Given the description of an element on the screen output the (x, y) to click on. 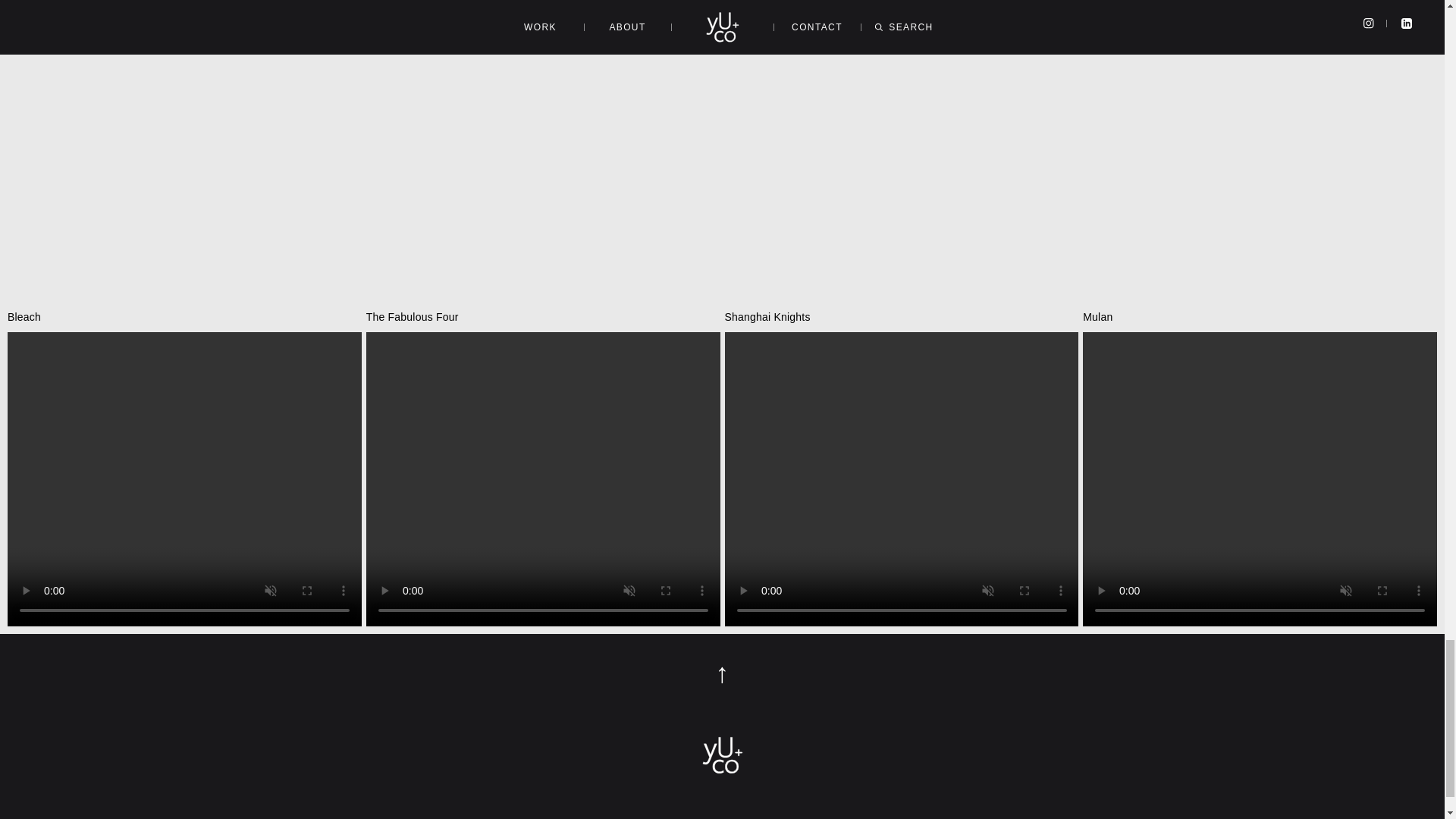
Shanghai Knights (901, 467)
Mulan (1260, 467)
The Fabulous Four (543, 467)
Bleach (184, 467)
